Given the description of an element on the screen output the (x, y) to click on. 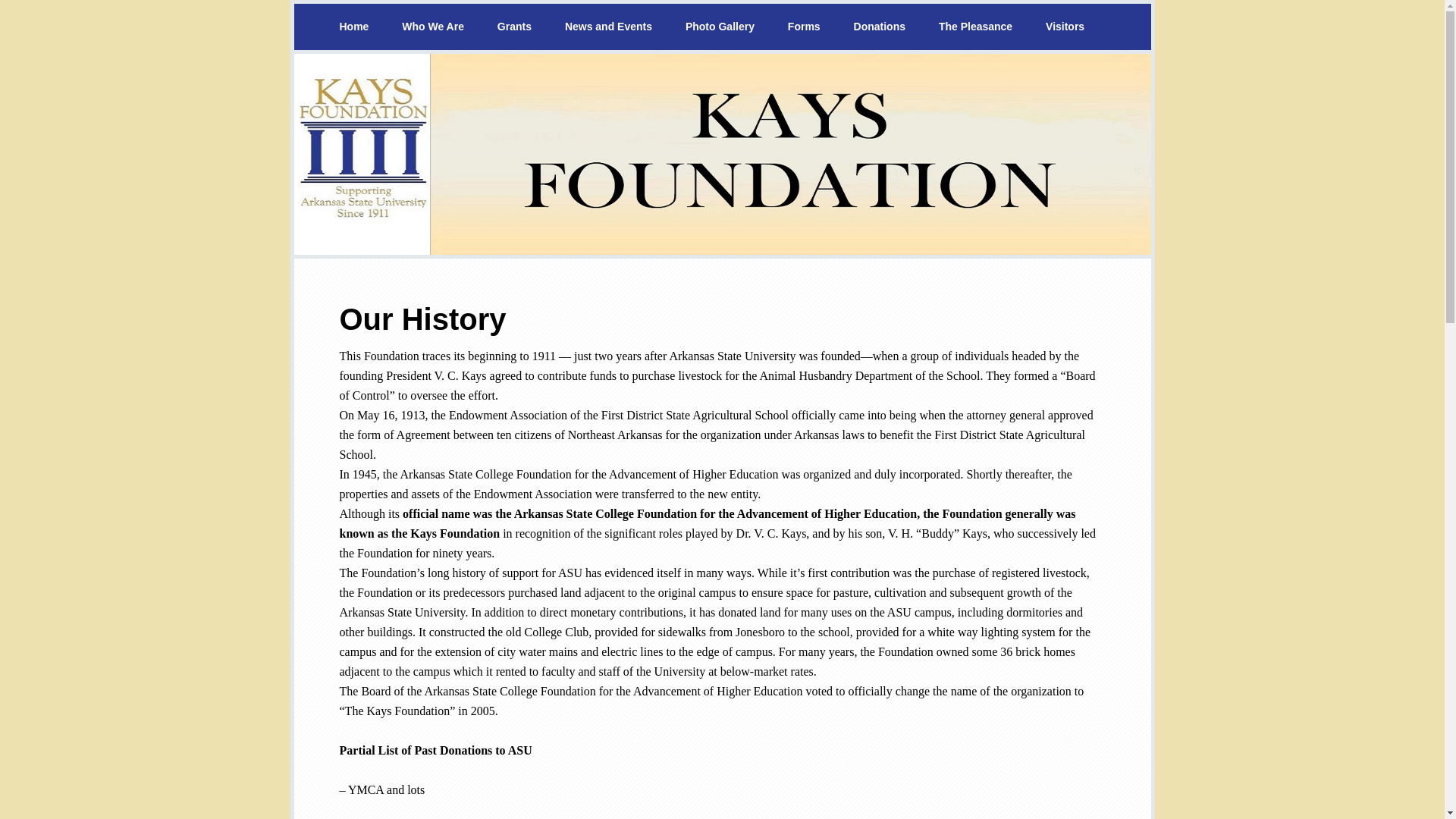
Donations (879, 26)
Visitors (1064, 26)
Home (354, 26)
News and Events (608, 26)
Forms (804, 26)
Photo Gallery (719, 26)
Grants (514, 26)
The Pleasance (975, 26)
Who We Are (433, 26)
